Given the description of an element on the screen output the (x, y) to click on. 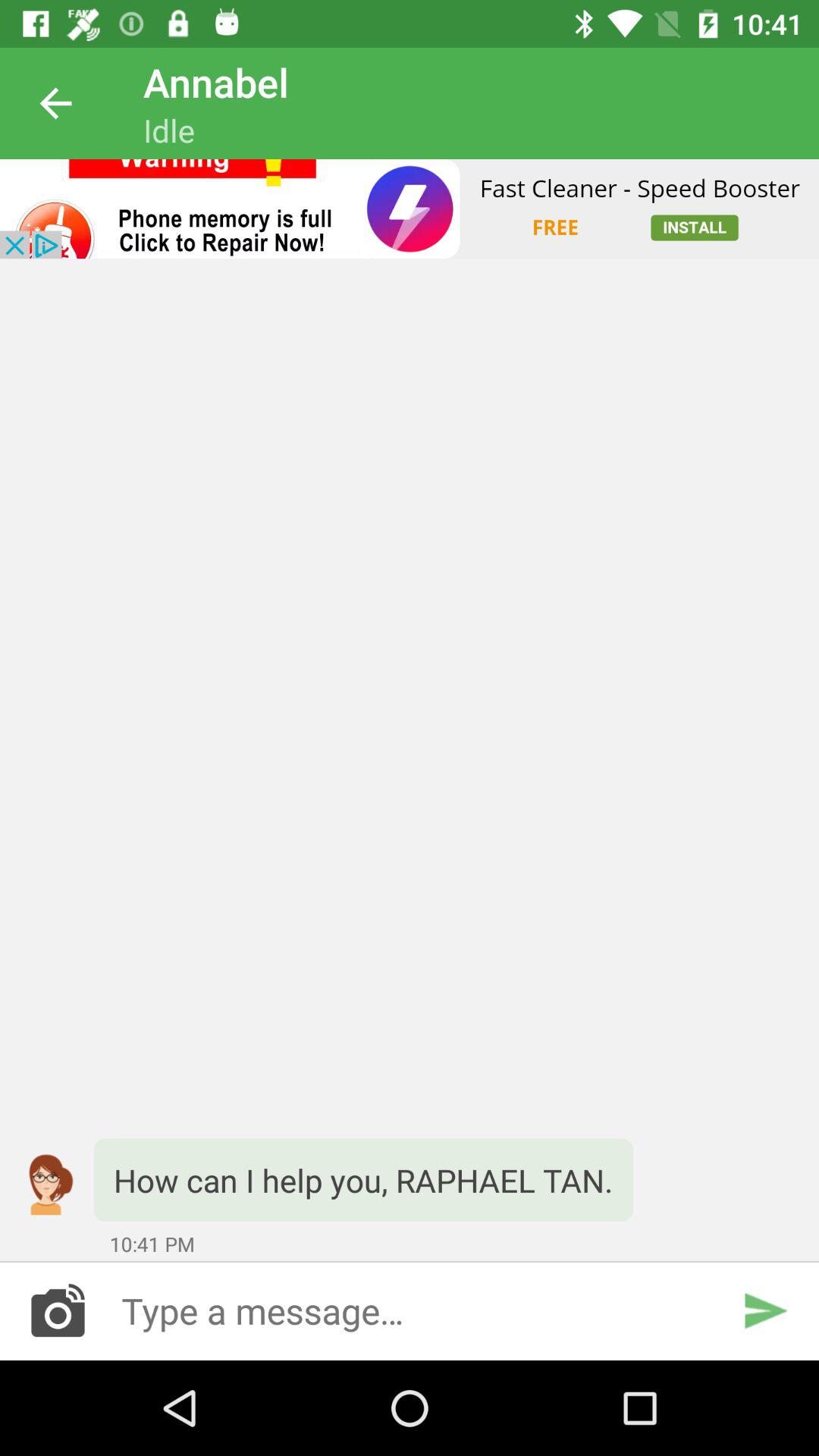
type a message (409, 1310)
